Given the description of an element on the screen output the (x, y) to click on. 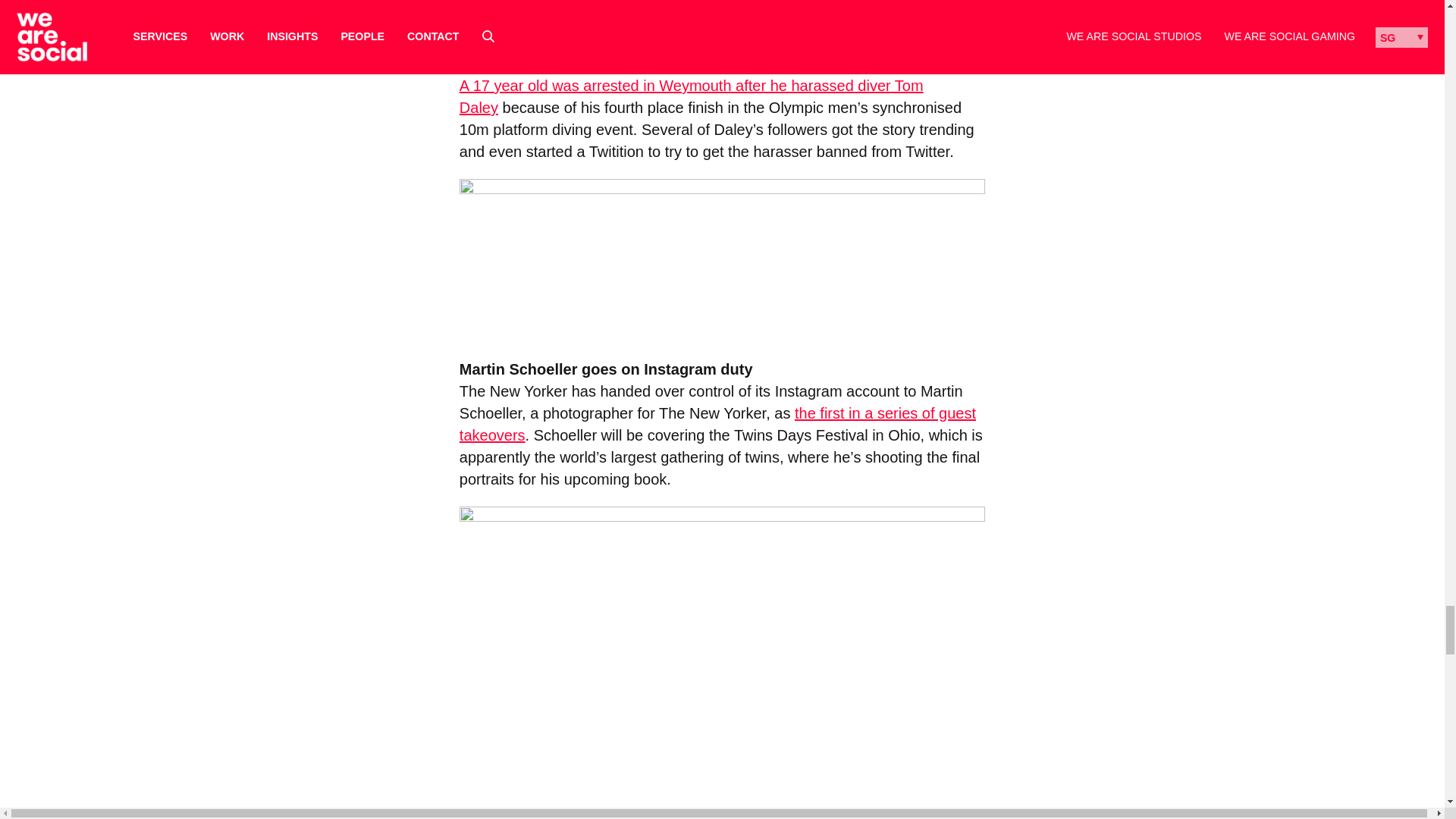
the first in a series of guest takeovers (717, 423)
